Given the description of an element on the screen output the (x, y) to click on. 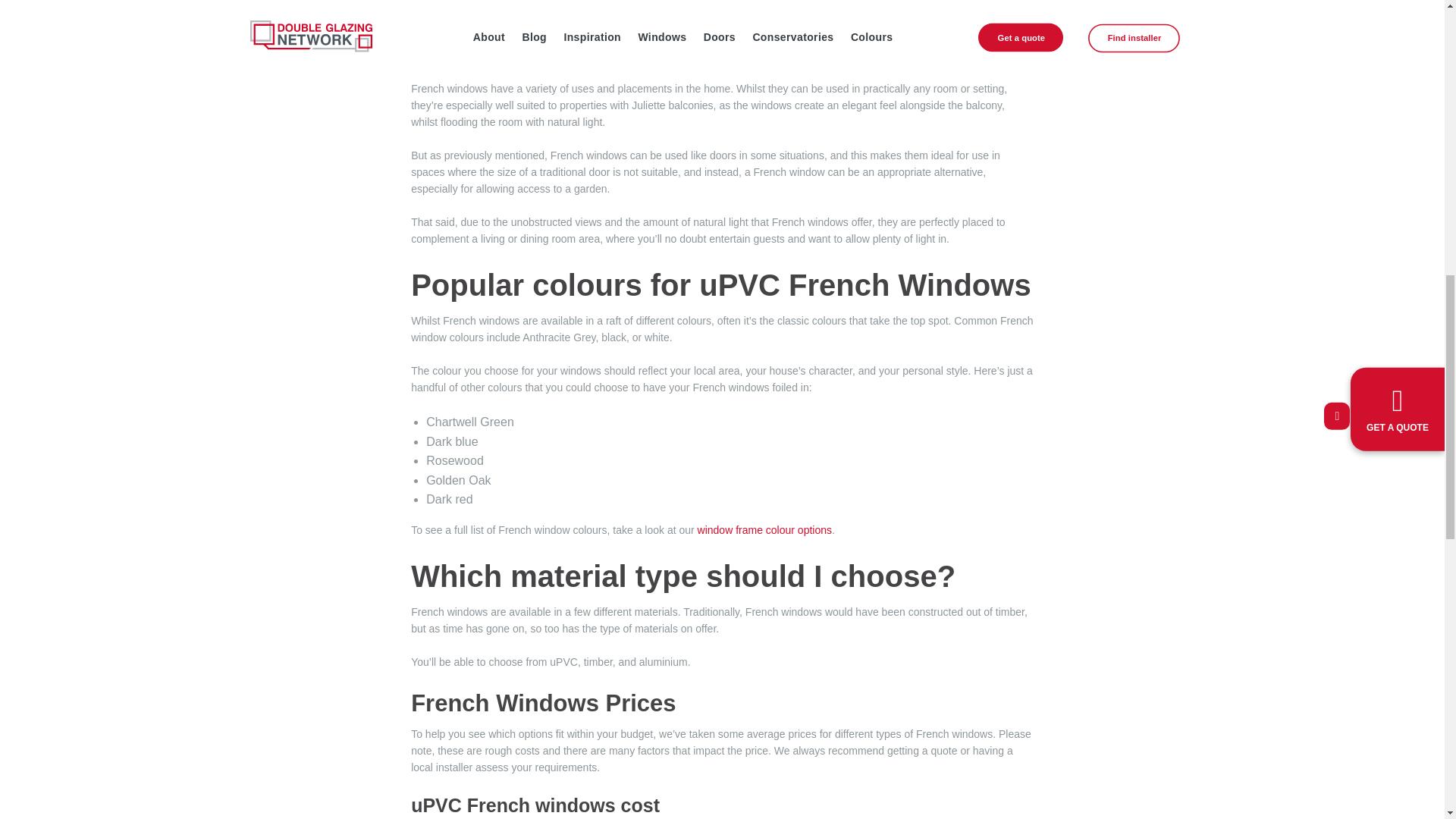
window frame colour options (764, 530)
